Given the description of an element on the screen output the (x, y) to click on. 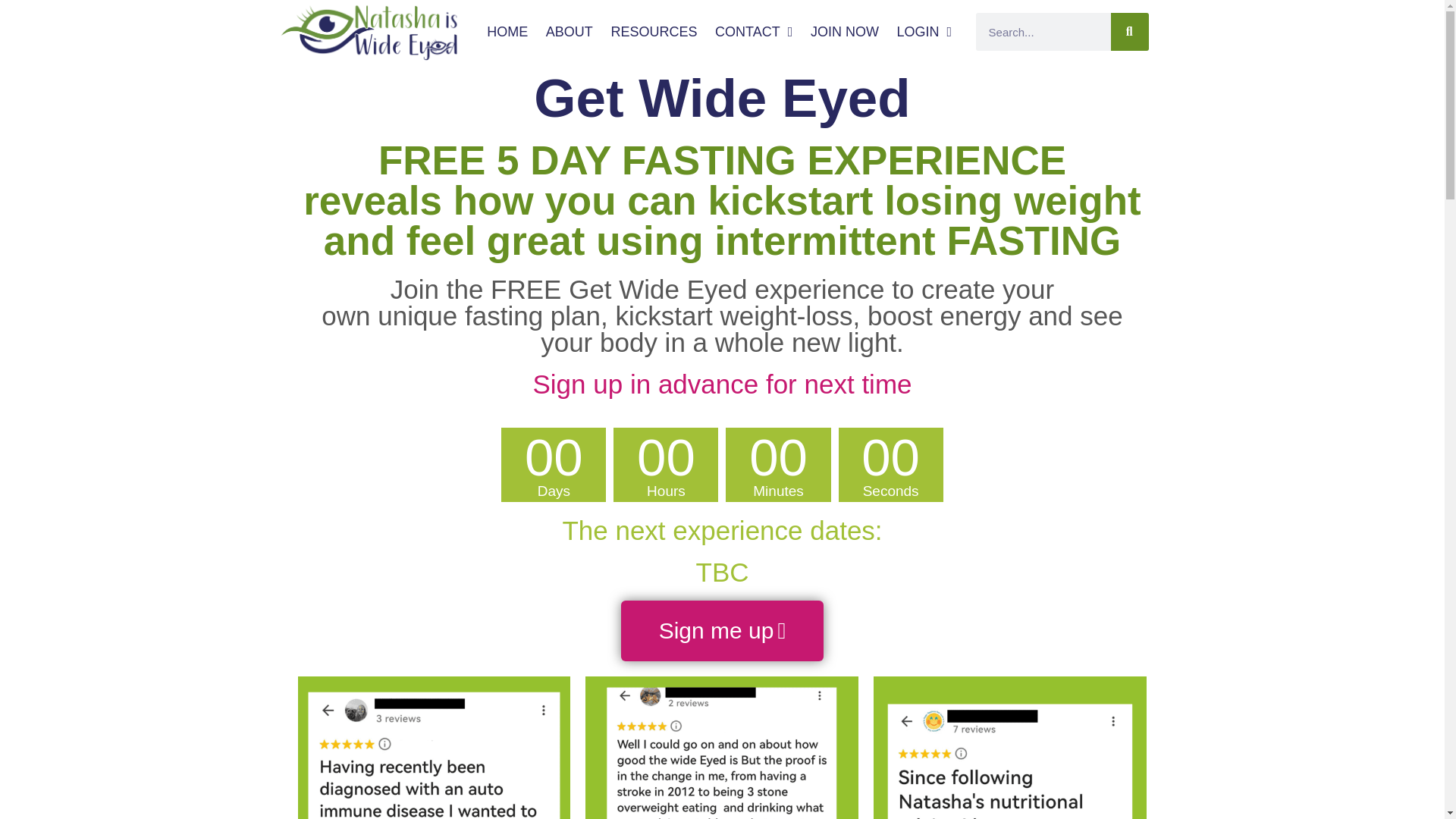
CONTACT (754, 31)
HOME (507, 31)
ABOUT (569, 31)
RESOURCES (654, 31)
LOGIN (924, 31)
JOIN NOW (845, 31)
